Given the description of an element on the screen output the (x, y) to click on. 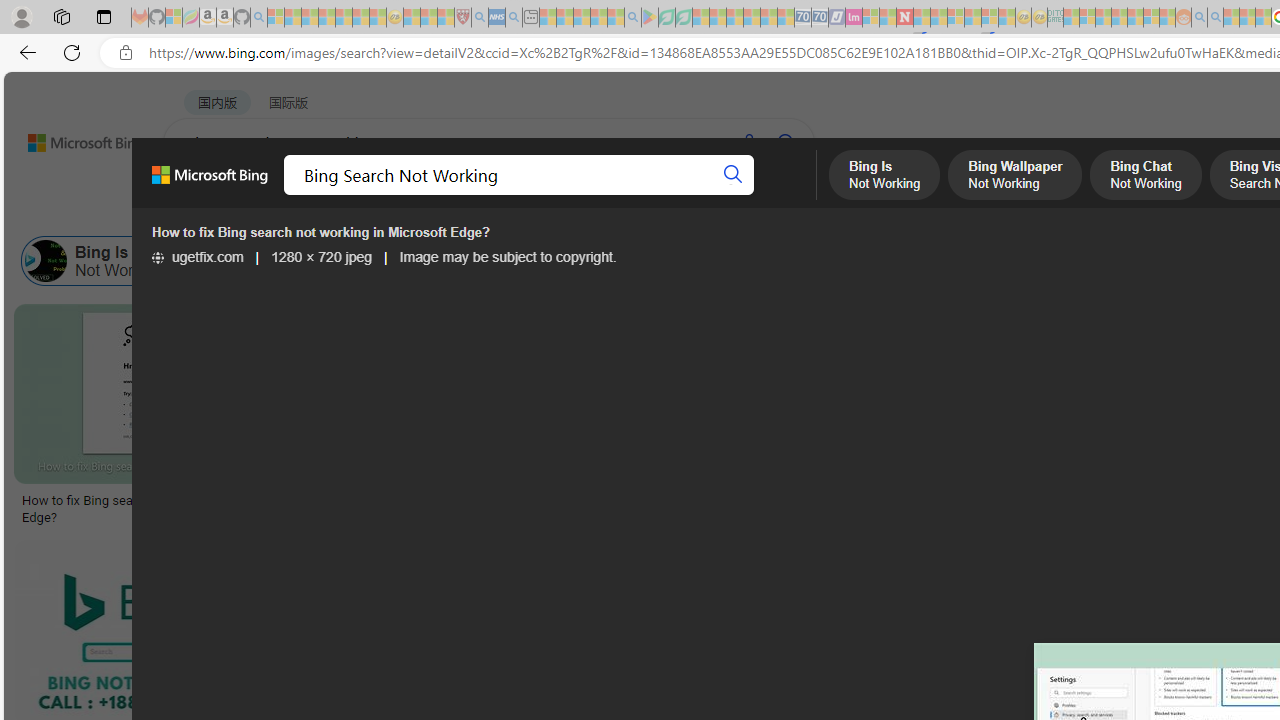
IMAGES (360, 196)
MORE (793, 195)
MSNBC - MSN - Sleeping (1071, 17)
Bing Chat Not Working (471, 260)
Fix Bing Search Not Working in Microsoft Edge (6 Easy Ways) (826, 508)
Cheap Car Rentals - Save70.com - Sleeping (802, 17)
Kinda Frugal - MSN - Sleeping (1135, 17)
Image result for Bing Search Not Working (826, 393)
Class: item col (1053, 260)
